Given the description of an element on the screen output the (x, y) to click on. 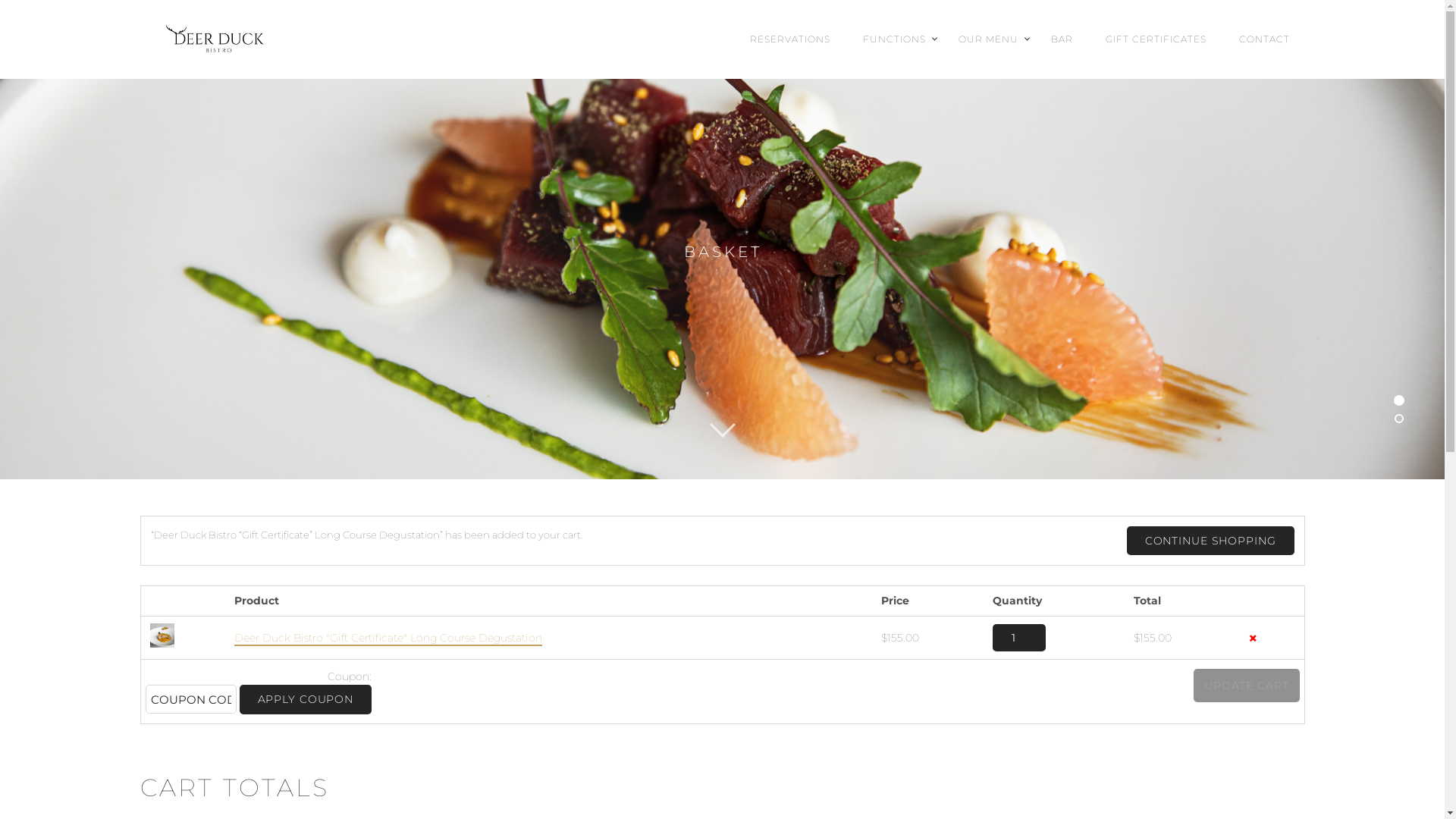
BAR Element type: text (1061, 39)
OUR MENU Element type: text (988, 39)
RESERVATIONS Element type: text (789, 39)
FUNCTIONS Element type: text (894, 39)
CONTACT Element type: text (1264, 39)
Deer Duck Bistro Element type: hover (262, 39)
CONTINUE SHOPPING Element type: text (1210, 540)
GIFT CERTIFICATES Element type: text (1155, 39)
Deer Duck Bistro "Gift Certificate" Long Course Degustation Element type: text (388, 638)
Apply coupon Element type: text (305, 699)
Update cart Element type: text (1246, 685)
